Given the description of an element on the screen output the (x, y) to click on. 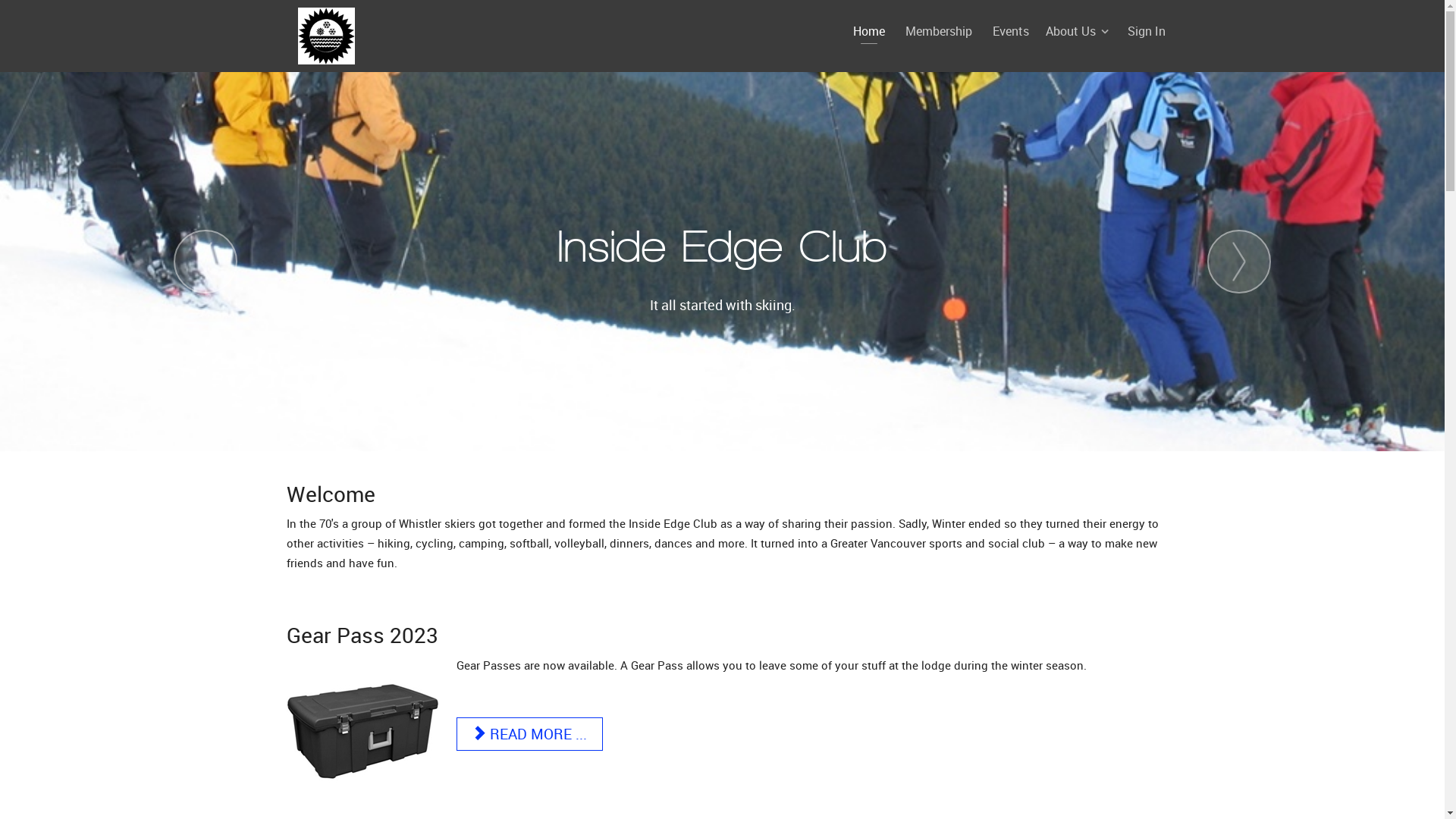
READ MORE ... Element type: text (529, 733)
Home Element type: text (867, 30)
Events Element type: text (1009, 30)
Membership Element type: text (938, 30)
Sign In Element type: text (1145, 30)
